Given the description of an element on the screen output the (x, y) to click on. 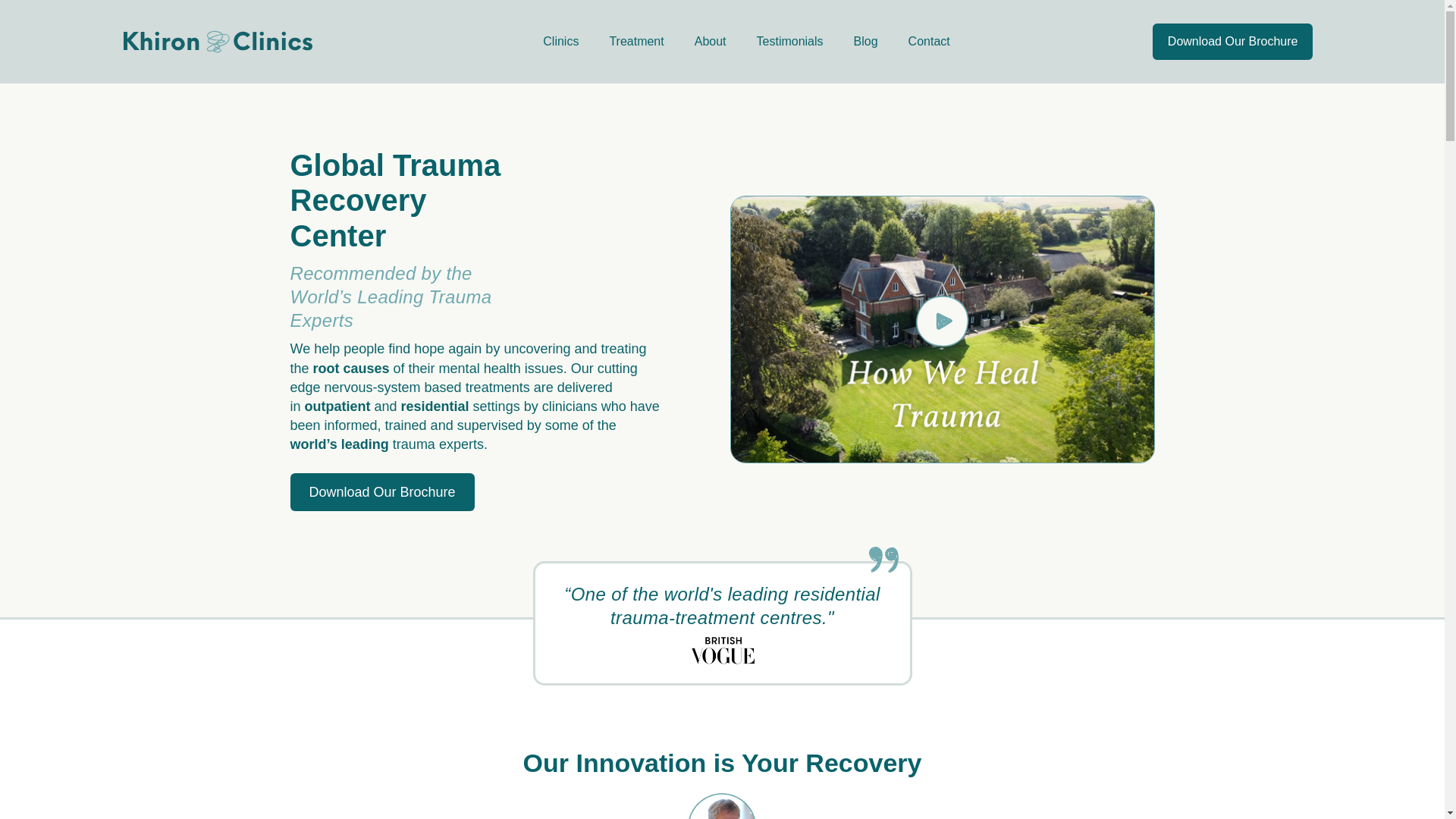
Clinics (560, 41)
Treatment (636, 41)
Blog (865, 41)
Testimonials (789, 41)
Contact (929, 41)
About (710, 41)
